Given the description of an element on the screen output the (x, y) to click on. 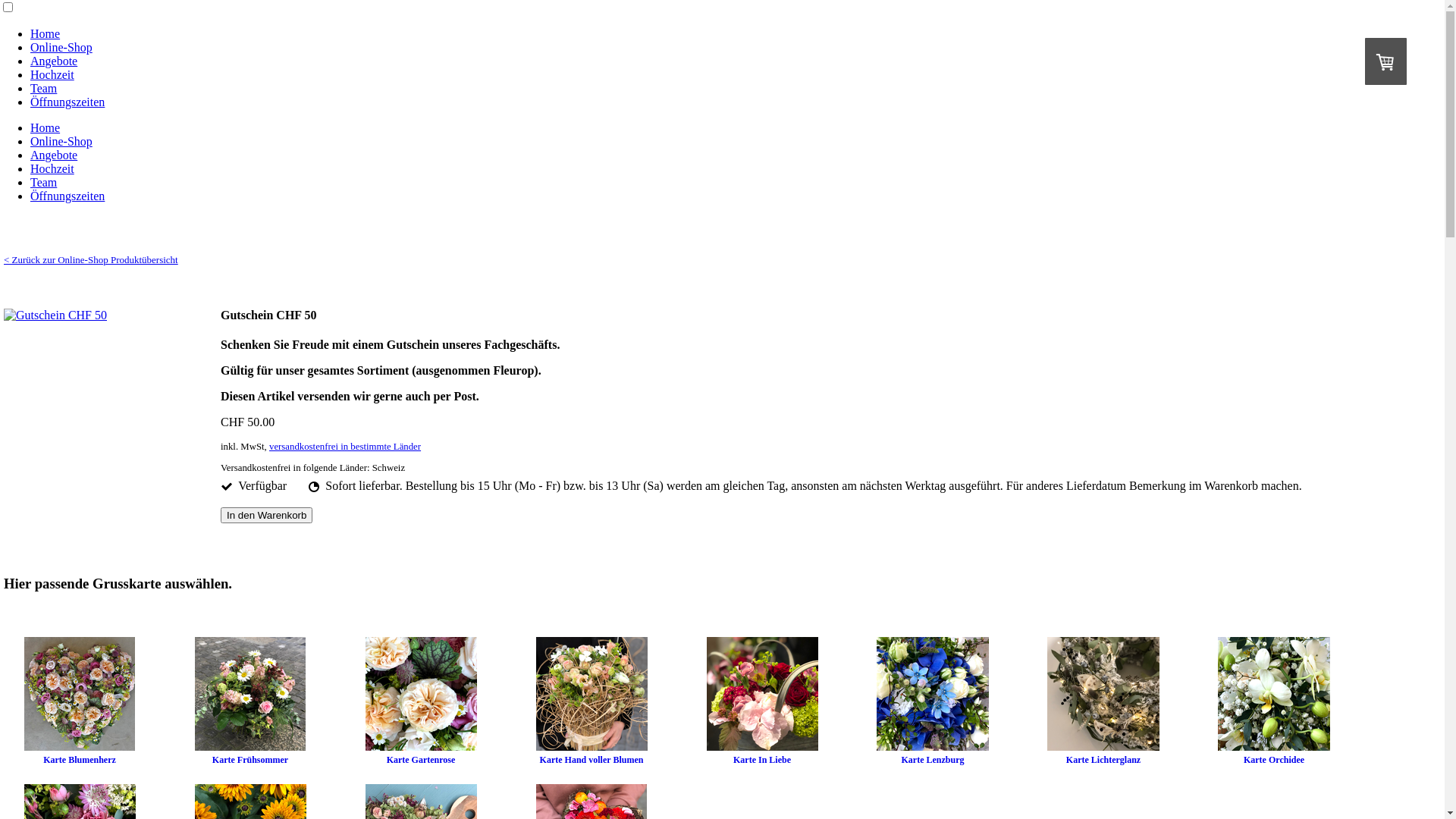
Karte Hand voller Blumen Element type: text (591, 759)
Online-Shop Element type: text (61, 140)
Karte Lenzburg Element type: text (931, 759)
Karte Gartenrose Element type: text (420, 759)
Karte Lichterglanz Element type: text (1103, 759)
Karte In Liebe Element type: text (761, 759)
In den Warenkorb Element type: text (266, 515)
Karte Orchidee Element type: text (1273, 759)
Home Element type: text (44, 33)
Online-Shop Element type: text (61, 46)
Karte Blumenherz Element type: text (79, 759)
Home Element type: text (44, 127)
Team Element type: text (43, 87)
Hochzeit Element type: text (52, 168)
Team Element type: text (43, 181)
Hochzeit Element type: text (52, 74)
Angebote Element type: text (53, 60)
Angebote Element type: text (53, 154)
